Given the description of an element on the screen output the (x, y) to click on. 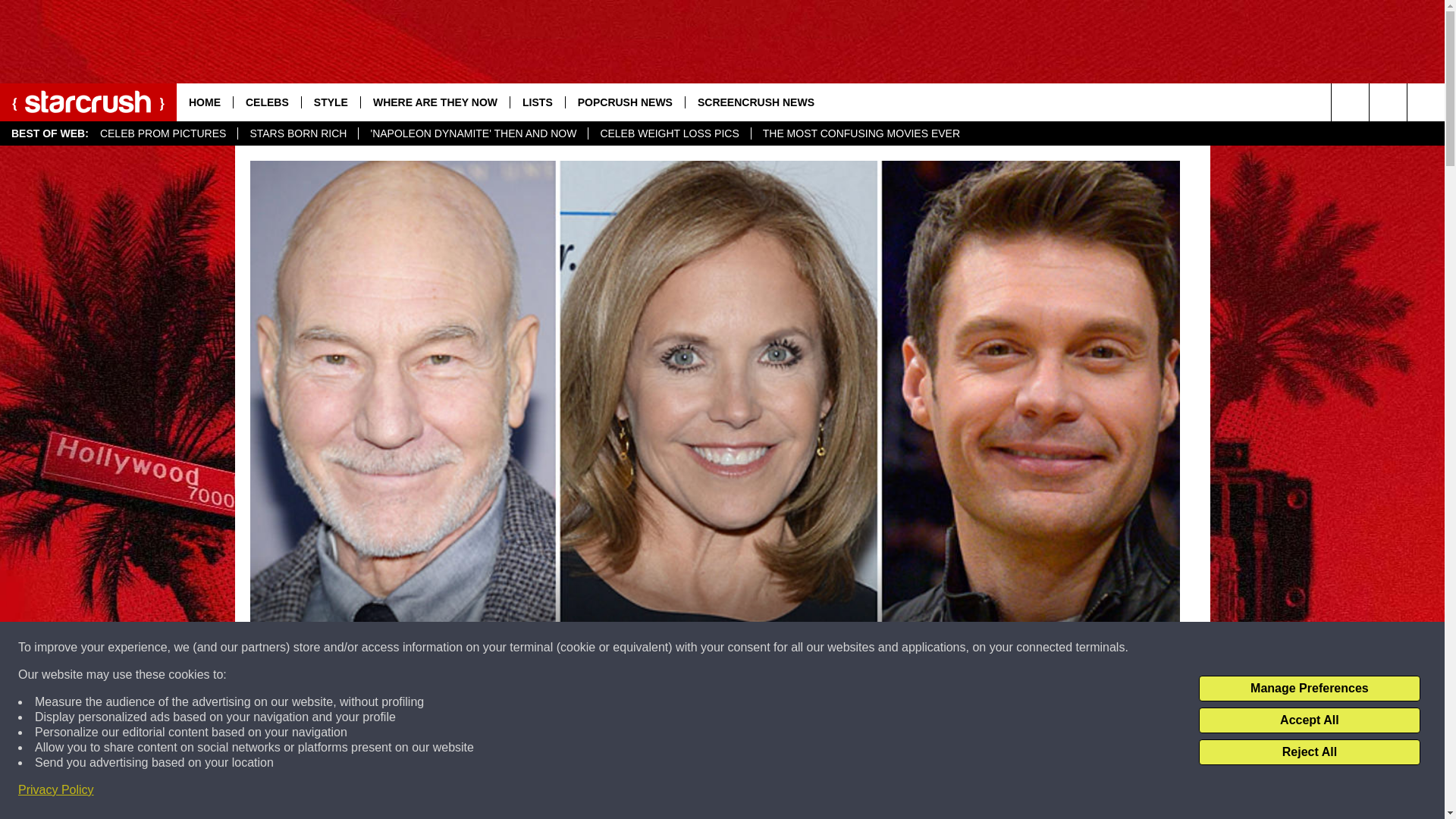
STYLE (330, 102)
STARS BORN RICH (297, 133)
'NAPOLEON DYNAMITE' THEN AND NOW (473, 133)
CELEB WEIGHT LOSS PICS (668, 133)
Share on Twitter (912, 791)
SHARE ON FACEBOOK (517, 791)
Manage Preferences (1309, 688)
Privacy Policy (55, 789)
Visit us on Facebook (1388, 102)
Reject All (1309, 751)
CELEBS (266, 102)
WHERE ARE THEY NOW (434, 102)
HOME (204, 102)
Share on Facebook (517, 791)
LISTS (536, 102)
